Given the description of an element on the screen output the (x, y) to click on. 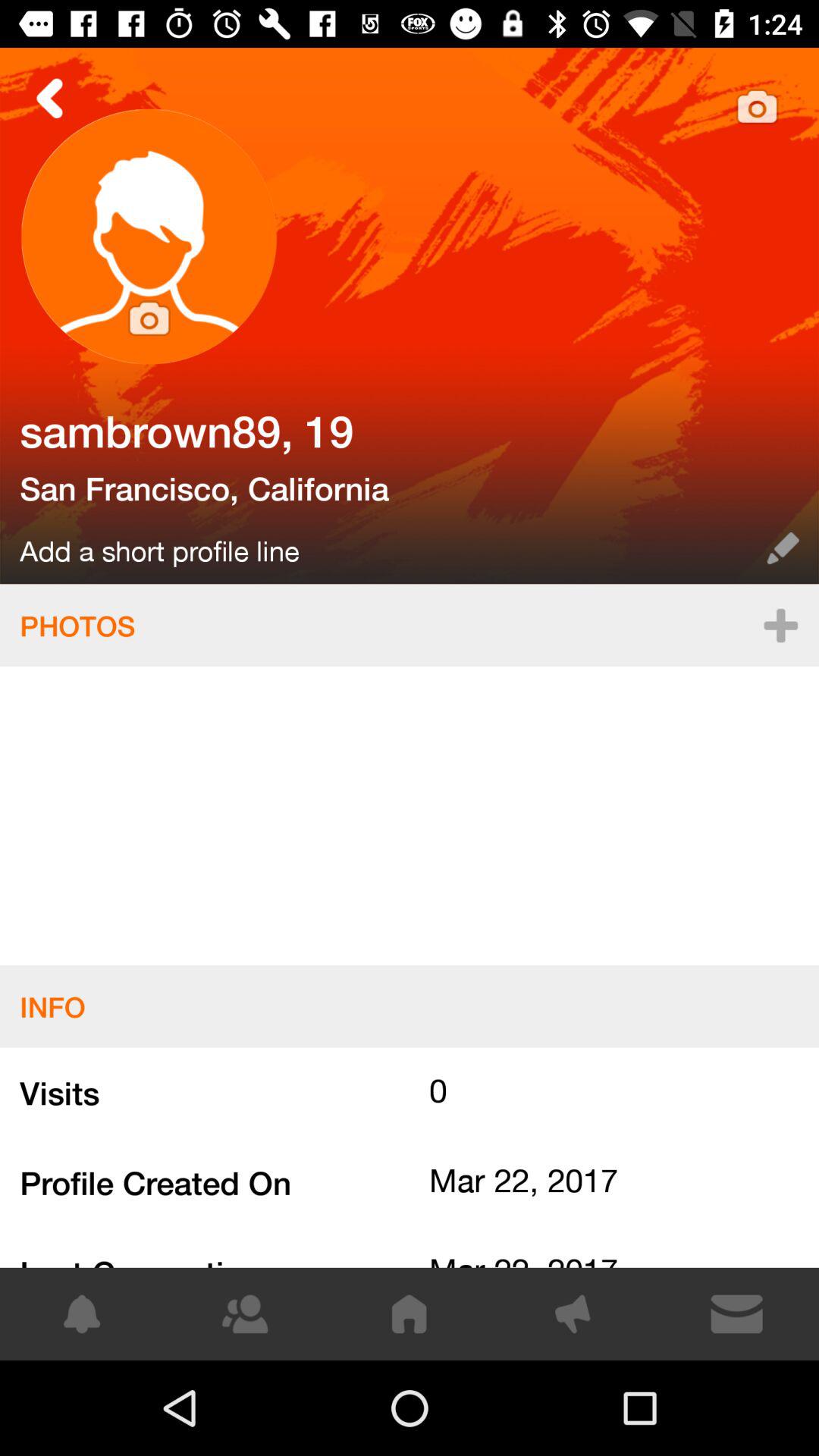
open the item above the photos icon (383, 548)
